Given the description of an element on the screen output the (x, y) to click on. 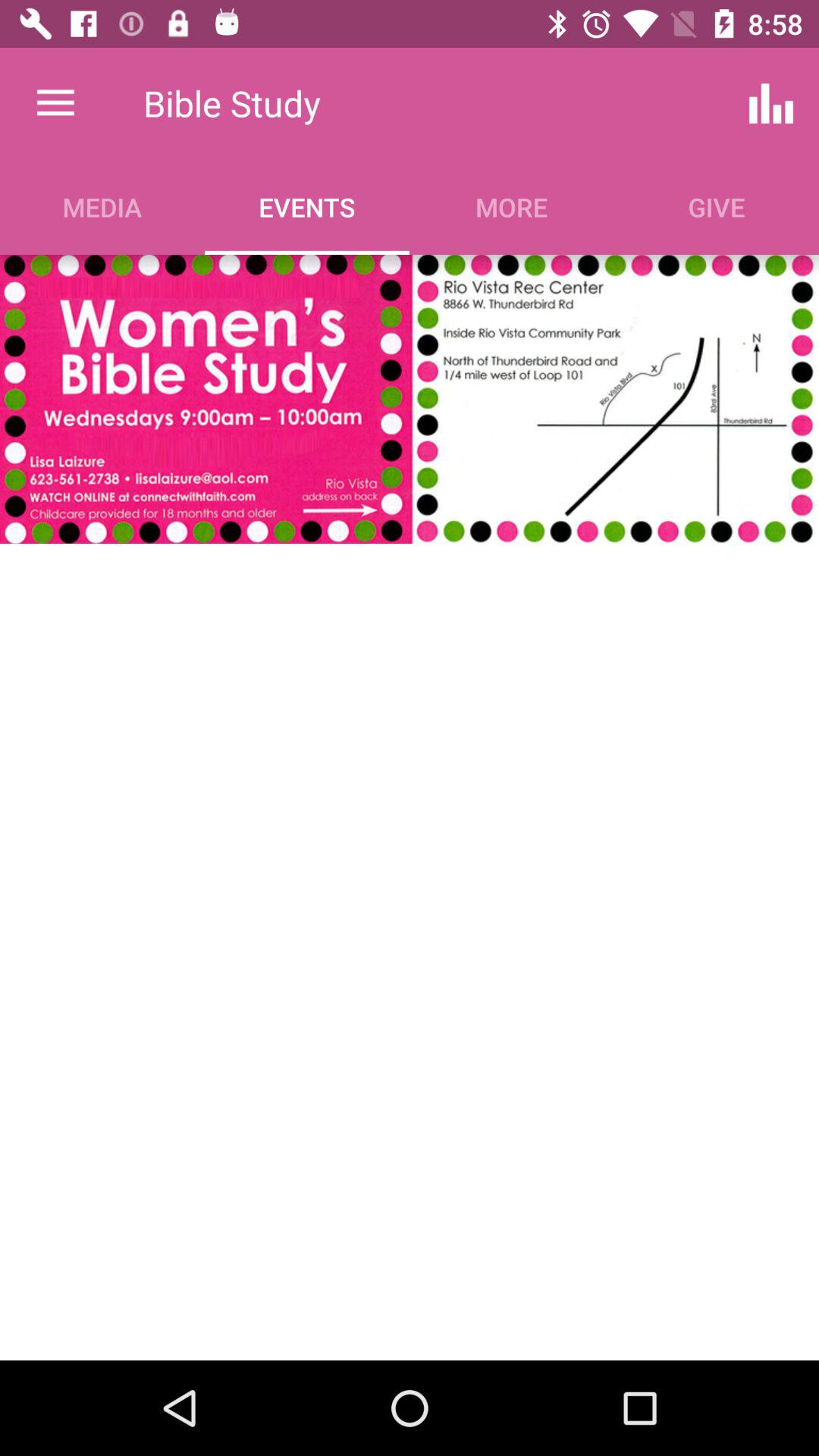
click item above the give (771, 103)
